Given the description of an element on the screen output the (x, y) to click on. 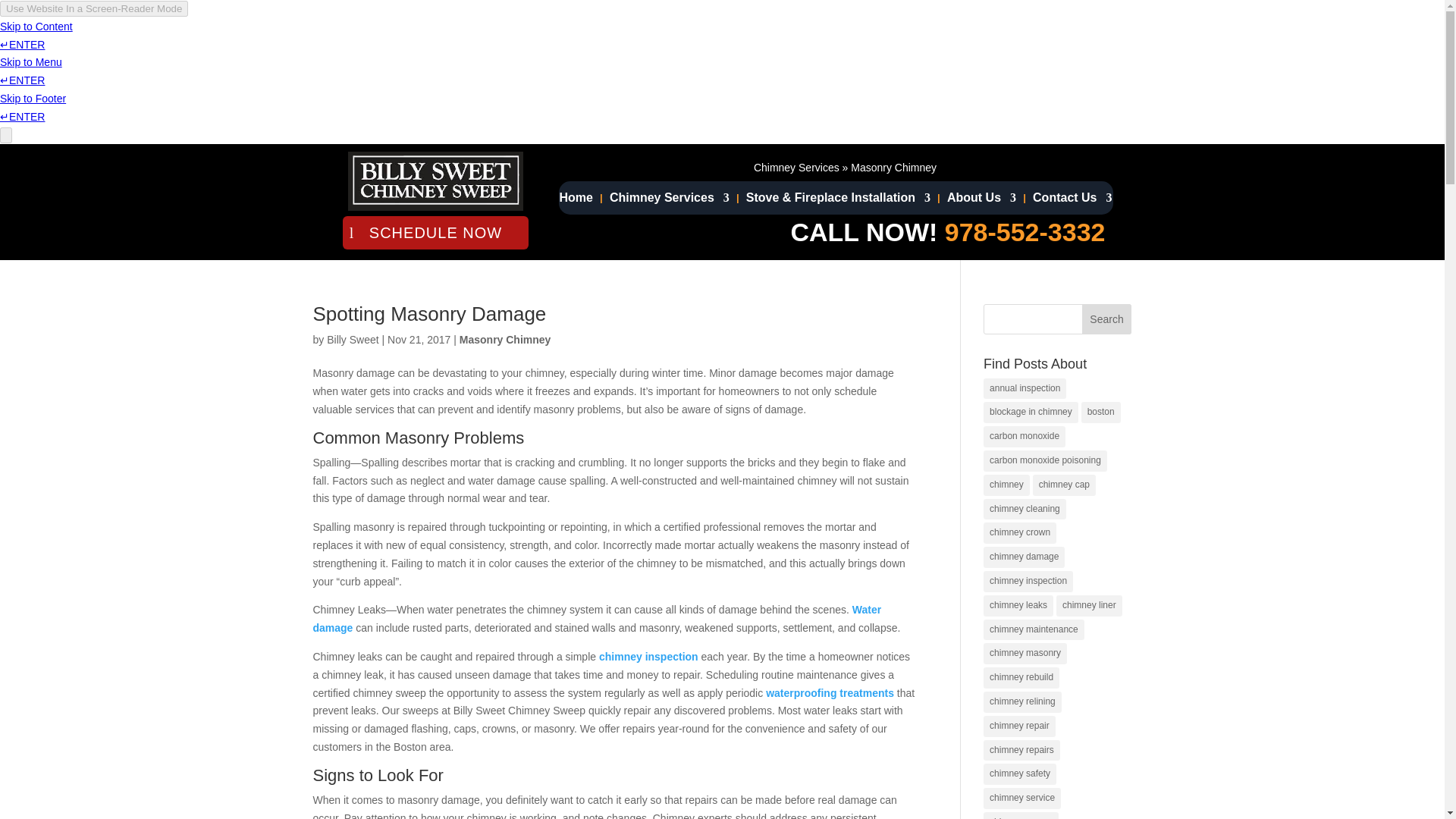
Billy Sweet Chimney Sweeps Logo (434, 180)
Home (575, 200)
Chimney Services (669, 200)
Search (1106, 318)
Call Us Today (1024, 231)
About Us (981, 200)
Chimney Services (797, 167)
SCHEDULE NOW (435, 232)
Contact Us (1072, 200)
Posts by Billy Sweet (352, 339)
